Given the description of an element on the screen output the (x, y) to click on. 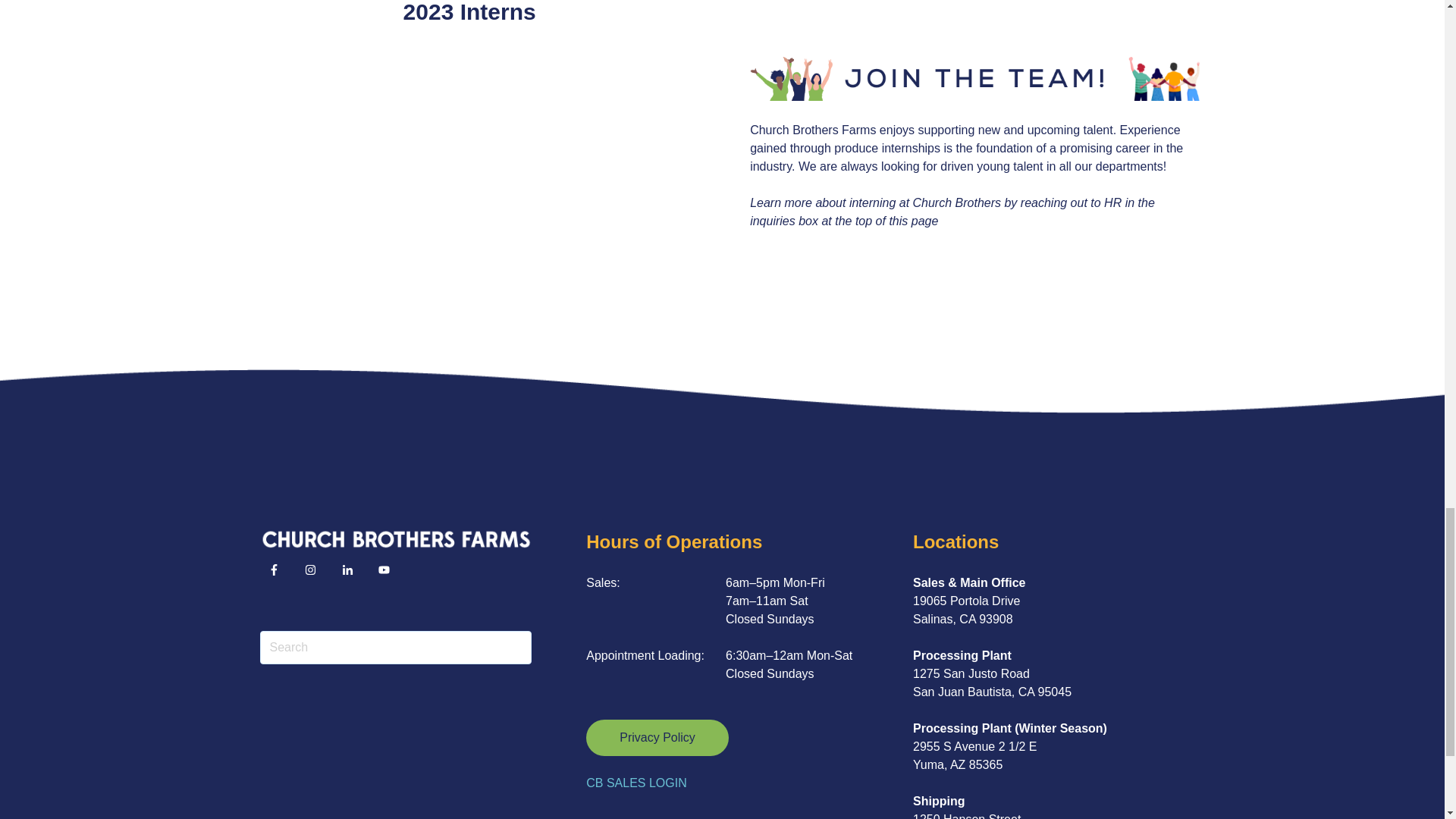
Follow us on Instagram (309, 569)
Follow us on Facebook (388, 573)
Follow us on LinkedIn (352, 573)
JOIN THE TEAM! (974, 78)
Church-Brothers-Farms-One-line-Logo-white (395, 538)
Follow us on Facebook (273, 569)
CB SALES LOGIN (636, 782)
Follow us on Instagram (315, 573)
Follow us on LinkedIn (347, 569)
Follow us on Facebook (384, 569)
Privacy Policy (657, 737)
undefined (469, 169)
Follow us on Facebook (278, 573)
